Given the description of an element on the screen output the (x, y) to click on. 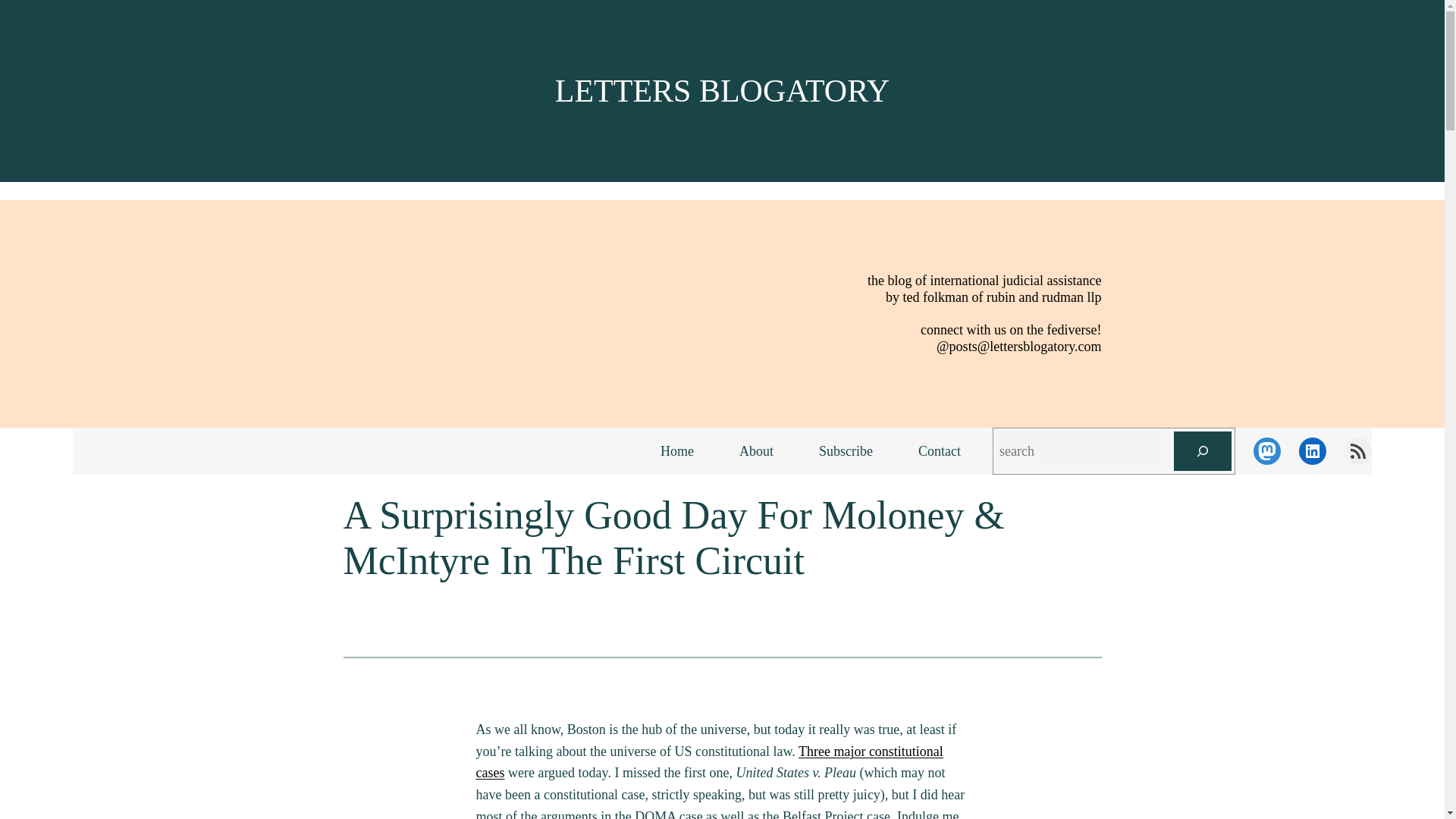
Subscribe (845, 451)
Home (676, 451)
Accept (1241, 760)
Opt-out preferences (1203, 792)
Contact (939, 451)
Mastodon (1267, 451)
Letters Blogatory RSS feed (1357, 451)
LinkedIn (1312, 451)
Three major constitutional cases (709, 762)
About (756, 451)
